Given the description of an element on the screen output the (x, y) to click on. 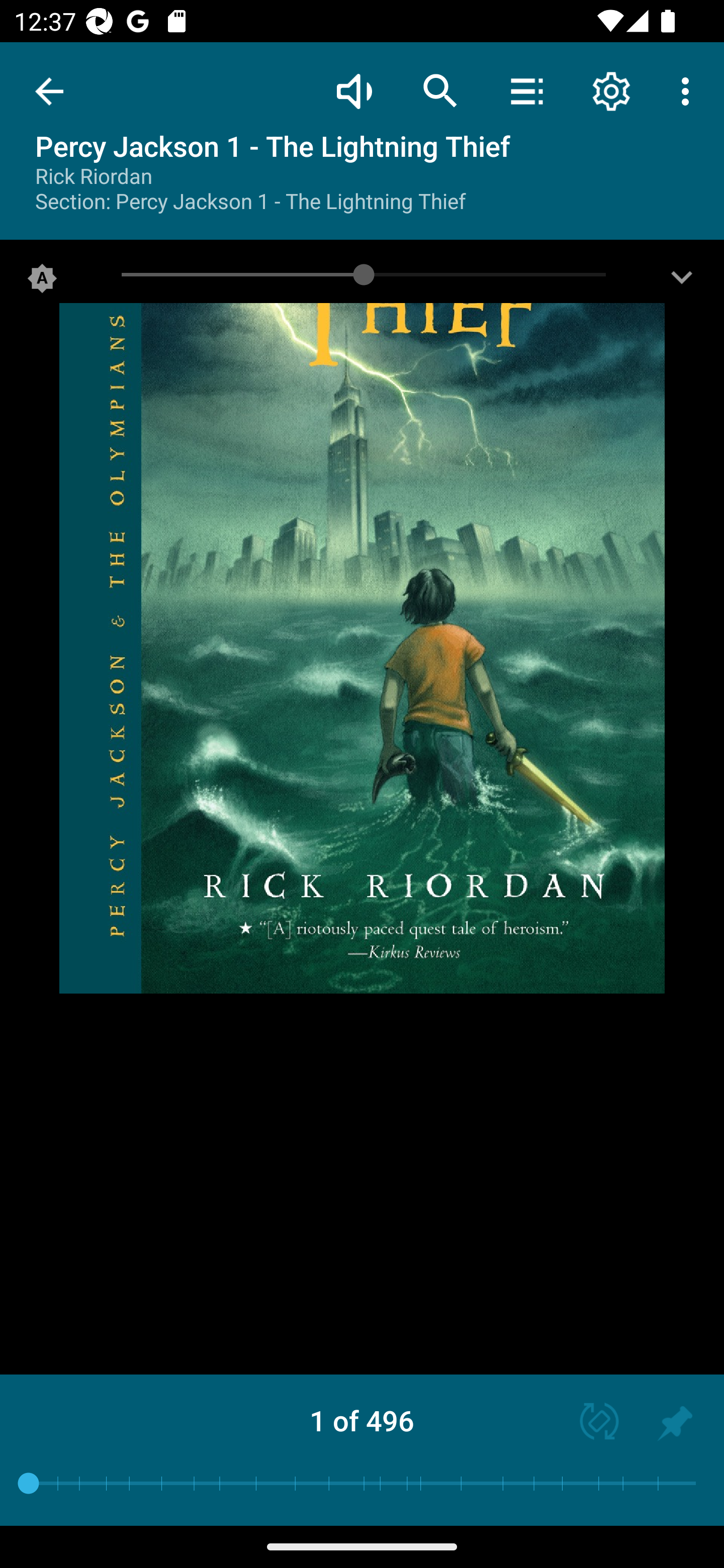
Exit reading (49, 91)
Read aloud (354, 90)
Text search (440, 90)
Contents / Bookmarks / Quotes (526, 90)
Reading settings (611, 90)
More options (688, 90)
Selected screen brightness (42, 281)
Screen brightness settings (681, 281)
1 of 496 (361, 1420)
Screen orientation (590, 1423)
Add to history (674, 1423)
